Given the description of an element on the screen output the (x, y) to click on. 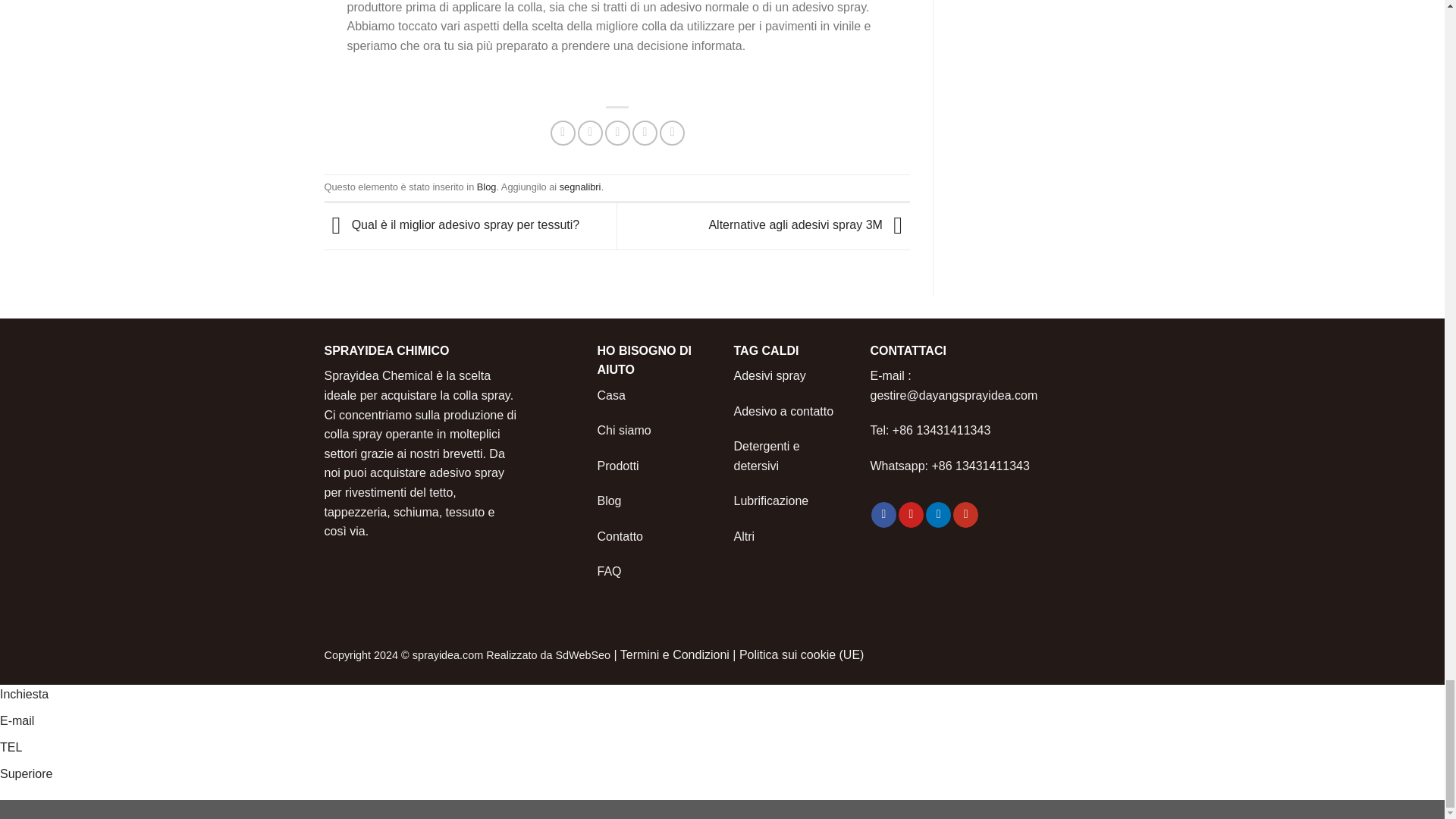
Condividi su LinkedIn (671, 132)
Condividi su Facebook (562, 132)
Pin su Pinterest (644, 132)
Seguici su Pinterest (910, 514)
segnalibri (580, 186)
Seguici su YouTube (965, 514)
Condividi su Twitter (590, 132)
Invia per email ad un Amico (617, 132)
Seguici su Facebook (883, 514)
Blog (486, 186)
